Given the description of an element on the screen output the (x, y) to click on. 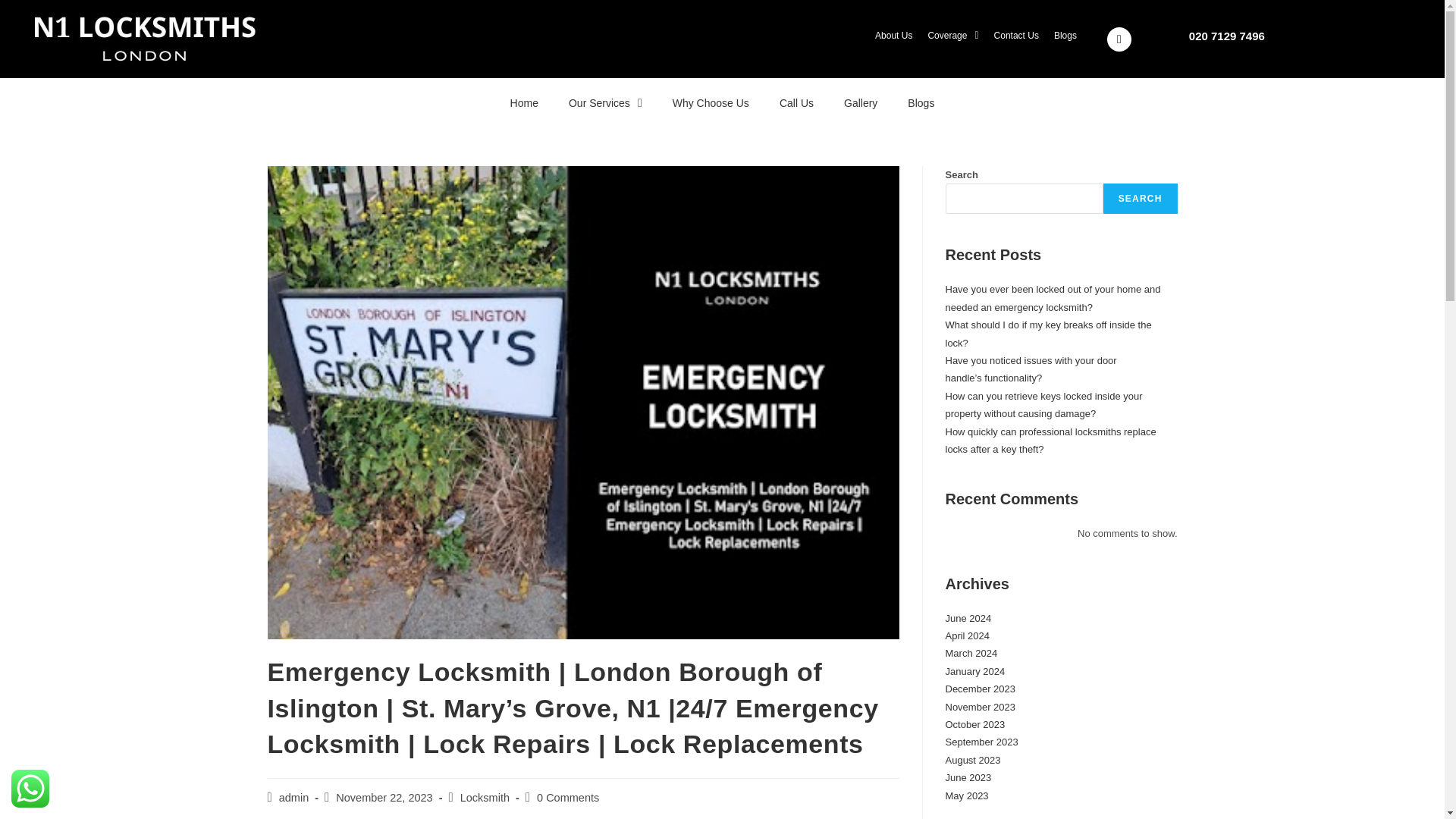
Posts by admin (293, 797)
020 7129 7496 (1227, 34)
Coverage (952, 34)
About Us (893, 34)
Blogs (1065, 34)
Contact Us (1016, 34)
